Given the description of an element on the screen output the (x, y) to click on. 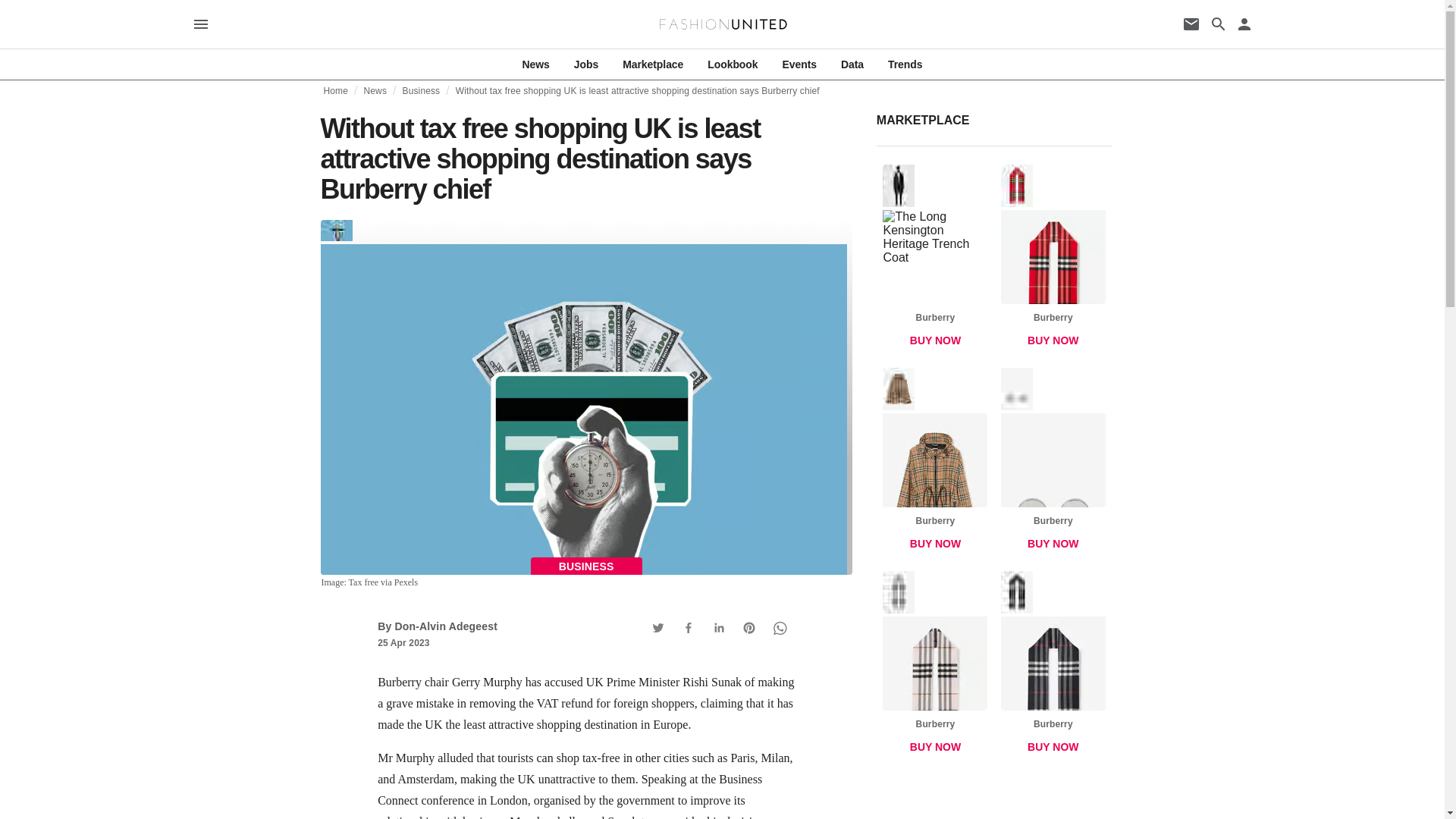
News (536, 64)
BUY NOW (935, 340)
Trends (1052, 666)
News (905, 64)
Home (935, 666)
Business (935, 462)
Data (1052, 259)
BUY NOW (375, 90)
BUY NOW (335, 90)
Logo Detail Palladium-plated Cufflinks (420, 90)
